Given the description of an element on the screen output the (x, y) to click on. 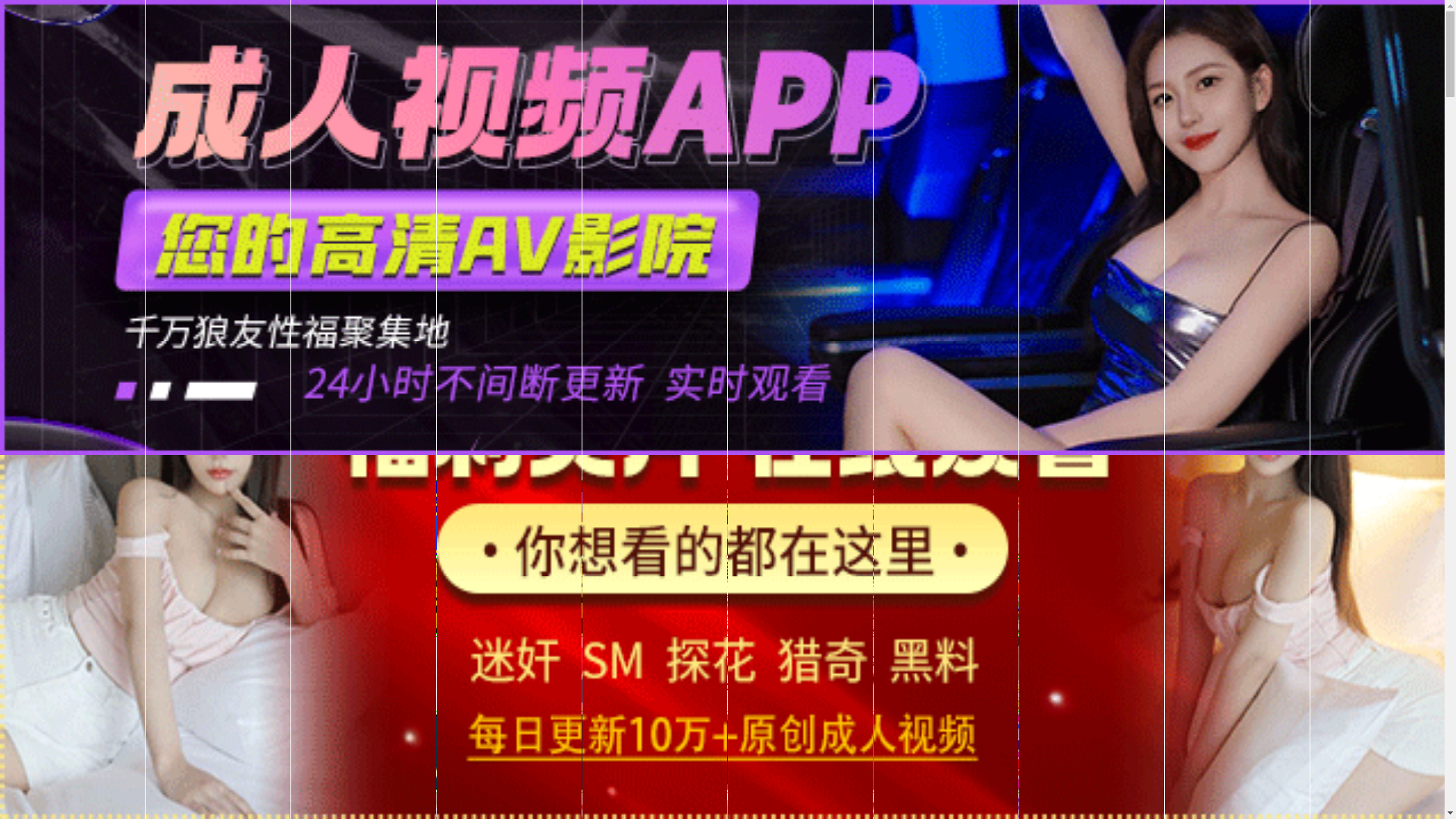
| Element type: text (1005, 471)
| Element type: text (1127, 471)
| Element type: text (1363, 471)
| Element type: text (1321, 471)
| Element type: text (1088, 471)
| Element type: text (980, 471)
| Element type: text (1166, 471)
| Element type: text (1413, 471)
| Element type: text (1041, 471)
| Element type: text (1228, 471)
| Element type: text (1274, 471)
